Given the description of an element on the screen output the (x, y) to click on. 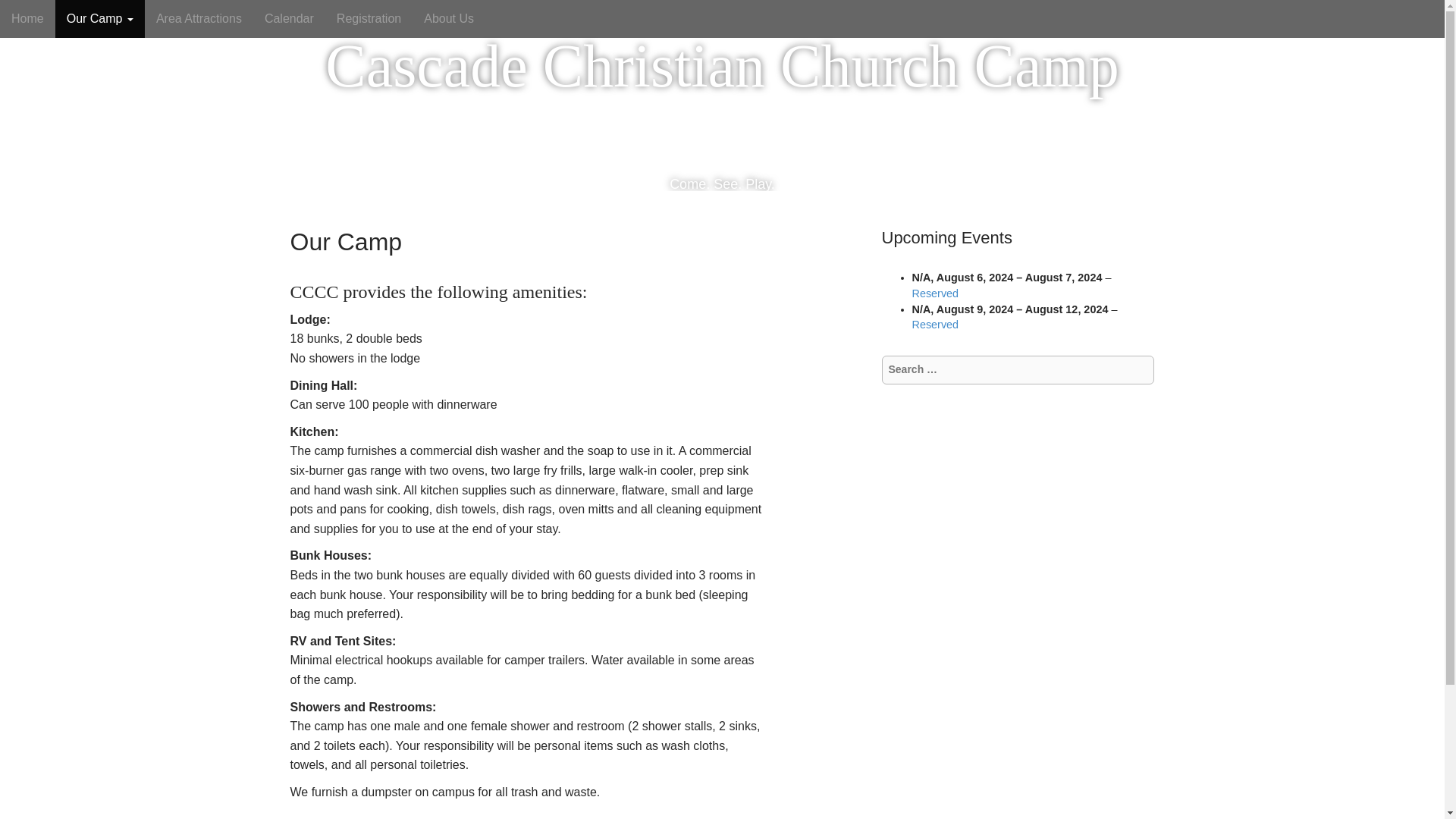
Search (23, 14)
Reserved (934, 324)
Home (27, 18)
Calendar (288, 18)
Our Camp (99, 18)
Registration (368, 18)
About Us (448, 18)
Area Attractions (198, 18)
Reserved (934, 293)
